Given the description of an element on the screen output the (x, y) to click on. 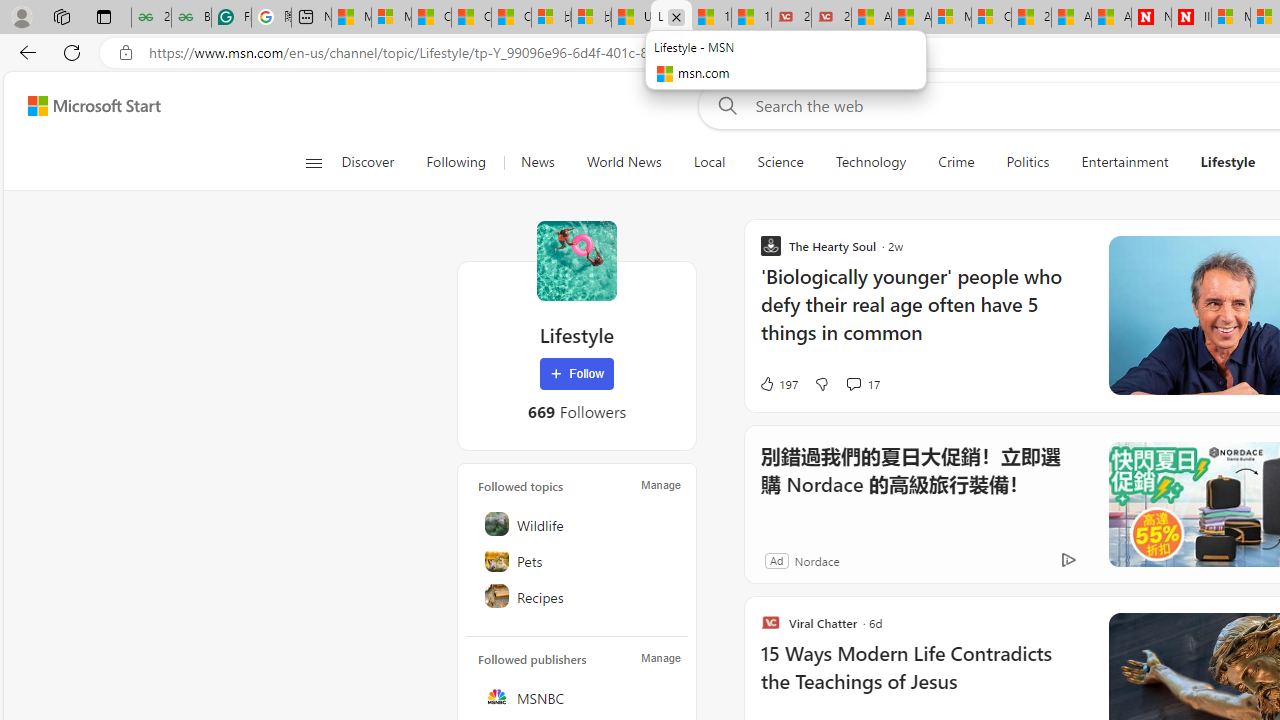
Microsoft Services Agreement (1231, 17)
Pets (578, 560)
Close tab (676, 16)
Discover (367, 162)
Back (24, 52)
Free AI Writing Assistance for Students | Grammarly (231, 17)
Lifestyle (1228, 162)
View site information (125, 53)
Entertainment (1124, 162)
Lifestyle - MSN (671, 17)
Entertainment (1124, 162)
Science (780, 162)
